Given the description of an element on the screen output the (x, y) to click on. 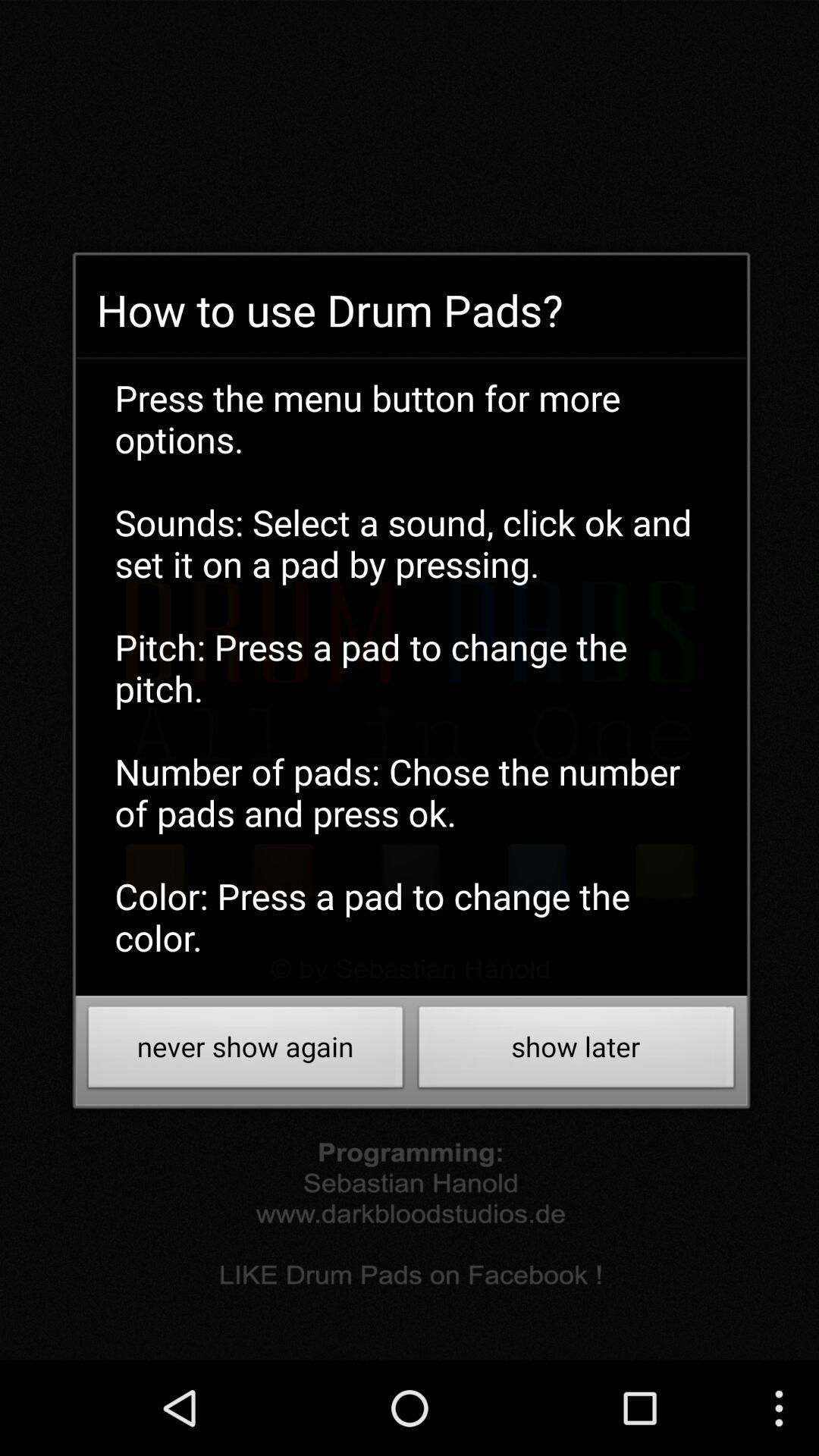
click never show again (245, 1051)
